Given the description of an element on the screen output the (x, y) to click on. 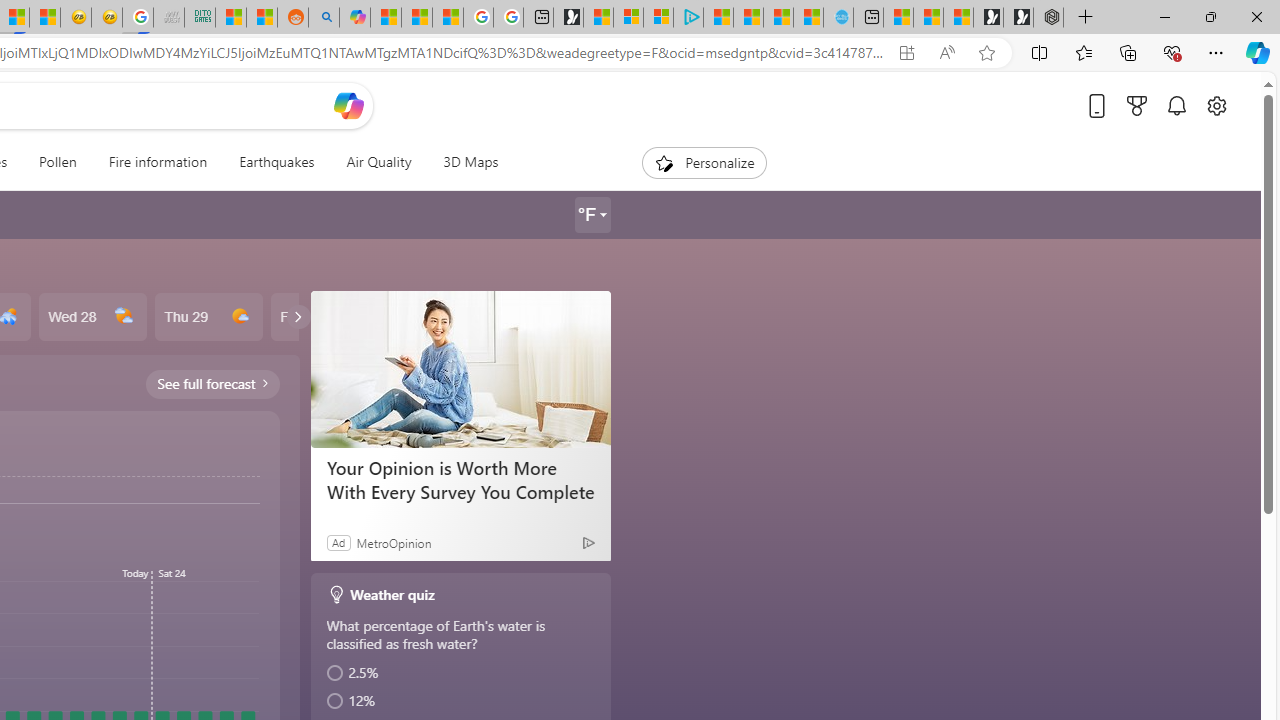
3D Maps (470, 162)
Thu 29 (207, 317)
Open Copilot (347, 105)
Split screen (1039, 52)
MetroOpinion (393, 542)
Wed 28 (92, 317)
Pollen (57, 162)
DITOGAMES AG Imprint (200, 17)
Favorites (1083, 52)
Restore (1210, 16)
Collections (1128, 52)
2.5% (462, 673)
